Given the description of an element on the screen output the (x, y) to click on. 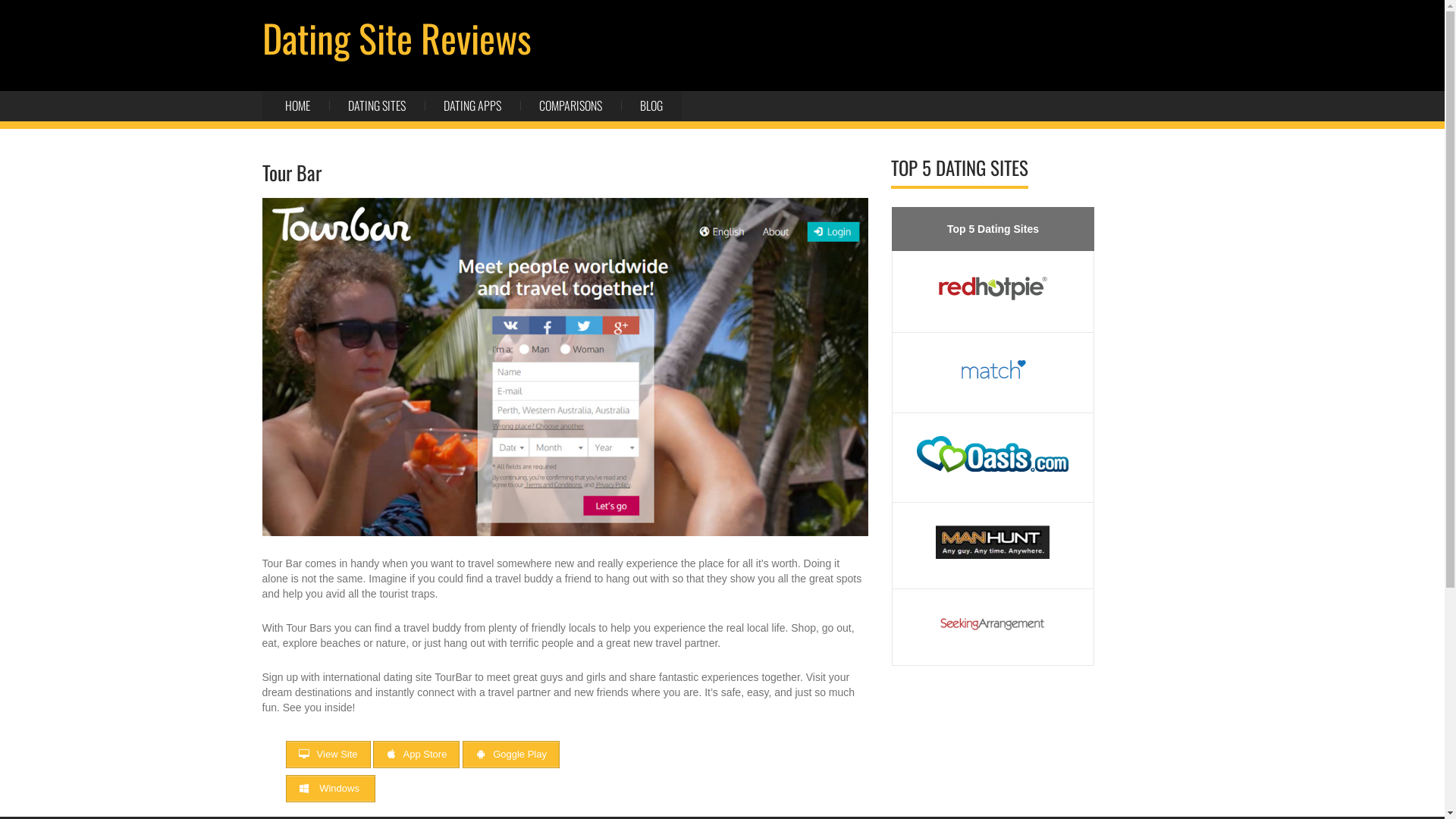
DATING SITES Element type: text (376, 105)
 Windows  Element type: text (329, 788)
BLOG Element type: text (650, 105)
DATING APPS Element type: text (472, 105)
Goggle Play Element type: text (510, 754)
Dating Site Reviews Element type: text (396, 37)
HOME Element type: text (307, 105)
App Store Element type: text (416, 754)
COMPARISONS Element type: text (570, 105)
View Site Element type: text (327, 754)
